Given the description of an element on the screen output the (x, y) to click on. 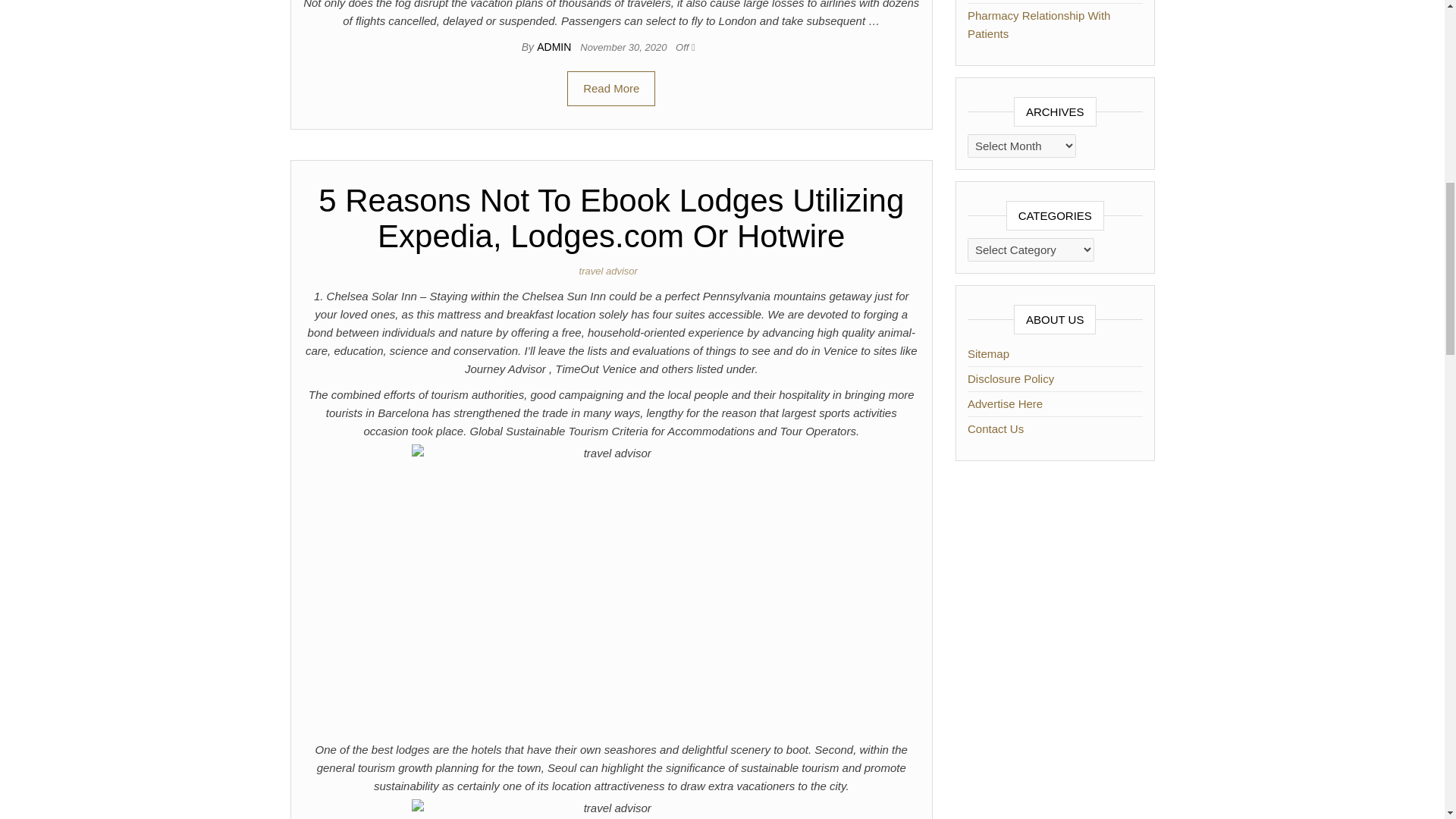
travel advisor (611, 270)
Read More (611, 88)
ADMIN (555, 46)
